Given the description of an element on the screen output the (x, y) to click on. 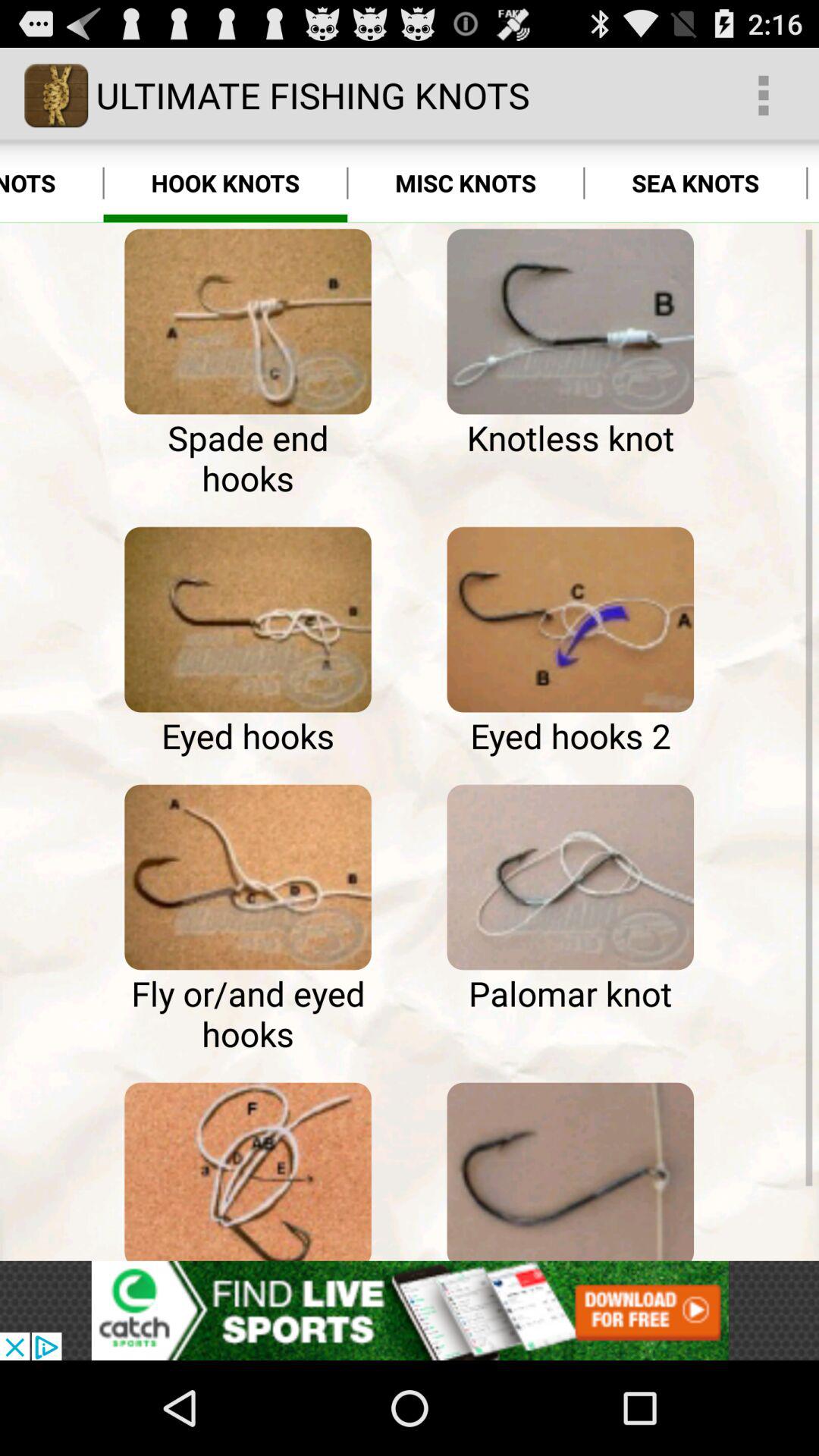
google search (247, 619)
